Given the description of an element on the screen output the (x, y) to click on. 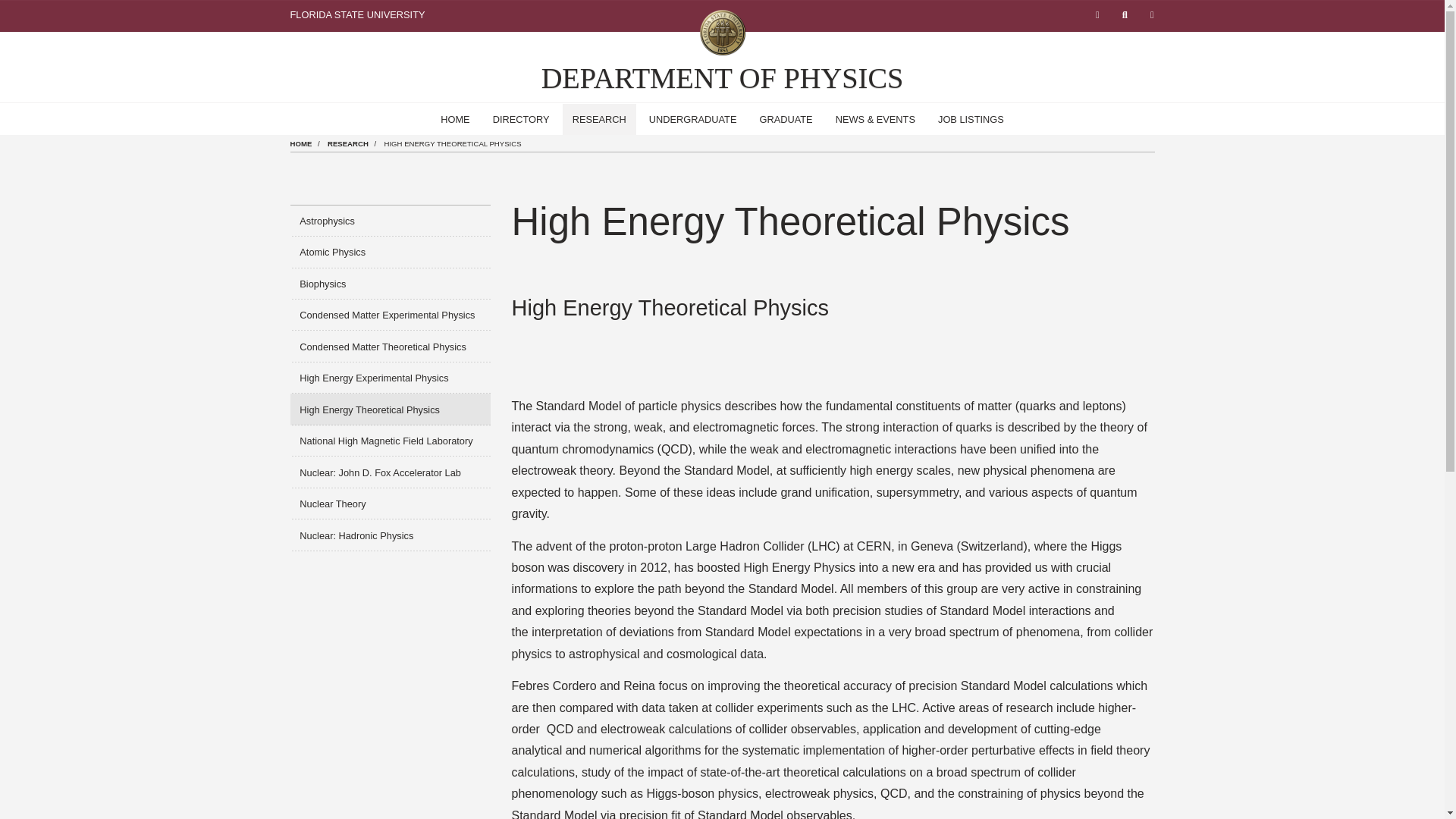
DIRECTORY (521, 119)
JOB LISTINGS (970, 119)
Condensed Matter Experimental Physics (389, 314)
Skip to main content (5, 5)
HOME (454, 119)
DEPARTMENT OF PHYSICS (722, 78)
RESEARCH (599, 119)
Astrophysics (389, 220)
GRADUATE (785, 119)
FLORIDA STATE UNIVERSITY (357, 14)
